Given the description of an element on the screen output the (x, y) to click on. 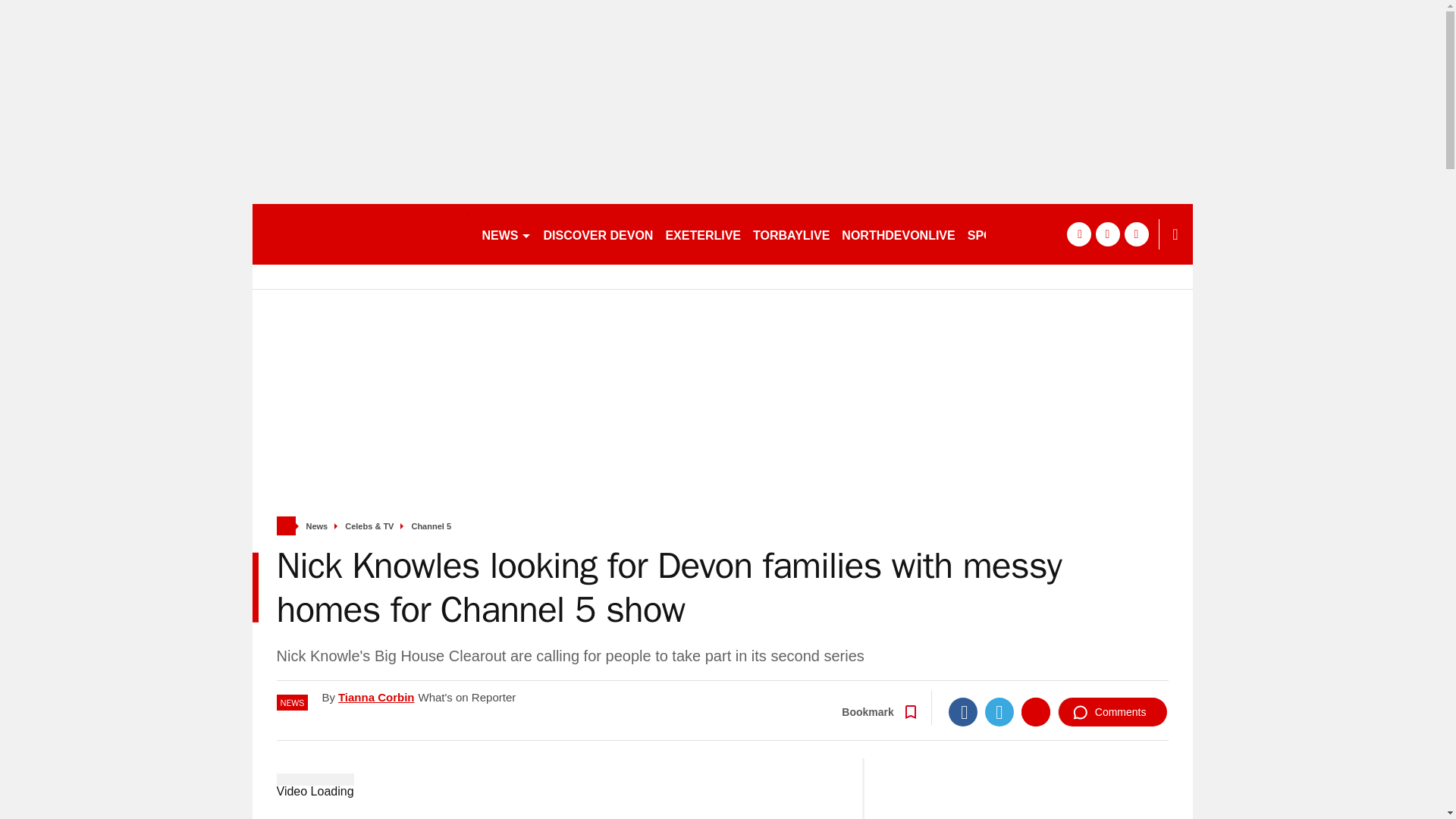
SPORT (993, 233)
twitter (1106, 233)
DISCOVER DEVON (598, 233)
Comments (1112, 711)
instagram (1136, 233)
EXETERLIVE (702, 233)
TORBAYLIVE (790, 233)
devonlive (359, 233)
NEWS (506, 233)
Twitter (999, 711)
facebook (1077, 233)
Facebook (962, 711)
NORTHDEVONLIVE (897, 233)
